Given the description of an element on the screen output the (x, y) to click on. 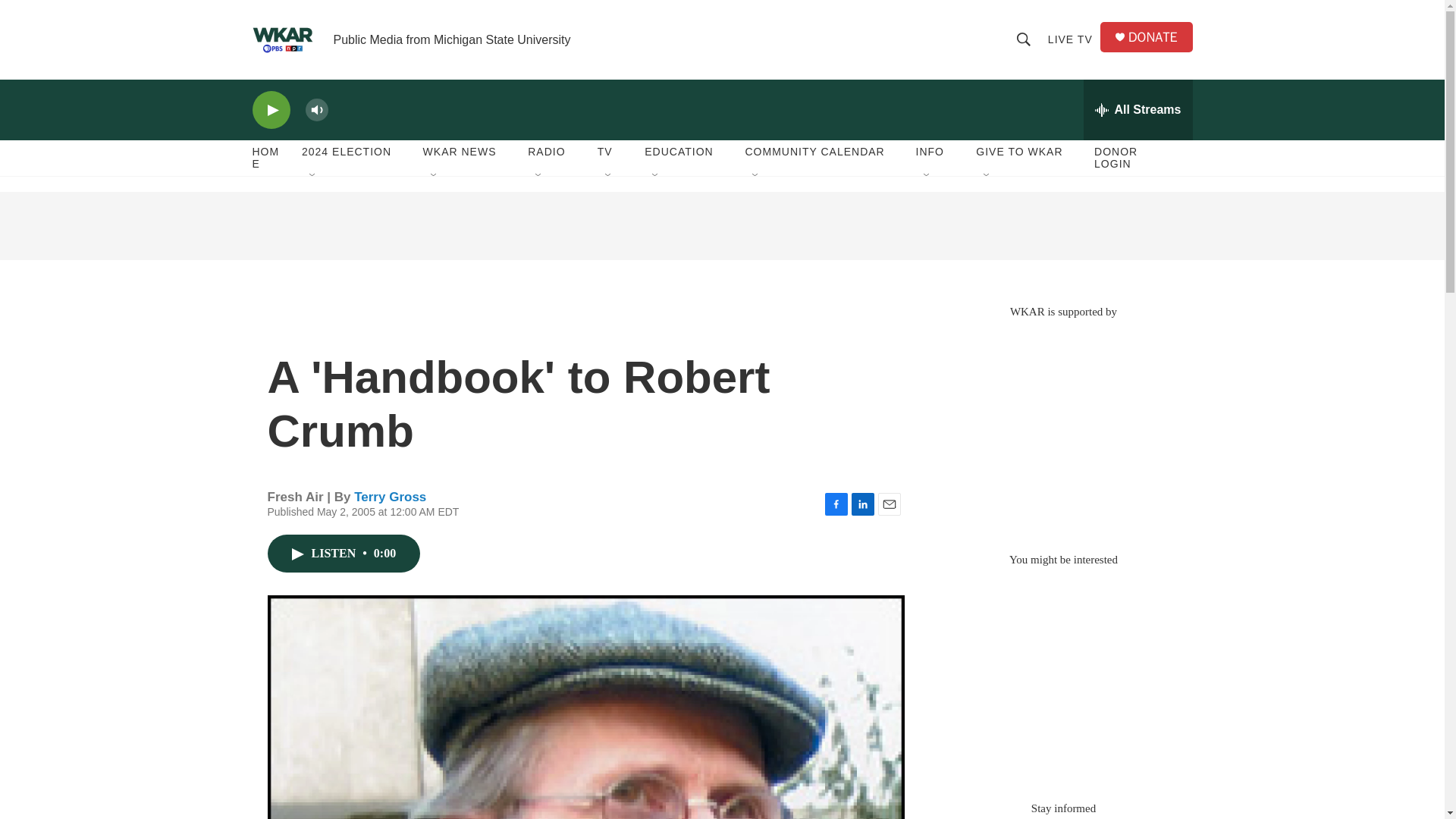
3rd party ad content (721, 225)
3rd party ad content (1062, 677)
3rd party ad content (1062, 428)
